Given the description of an element on the screen output the (x, y) to click on. 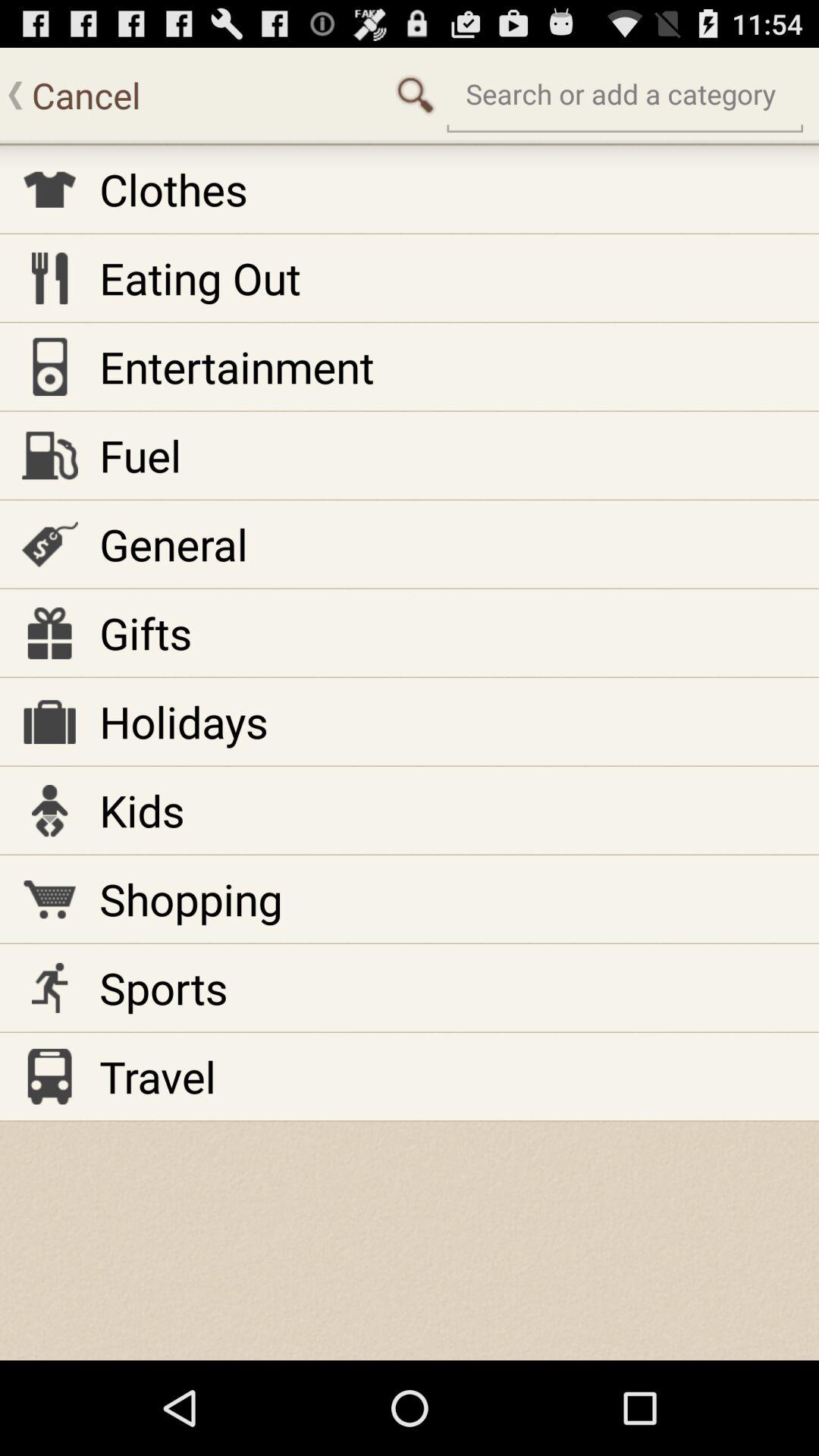
flip until the gifts (145, 632)
